Given the description of an element on the screen output the (x, y) to click on. 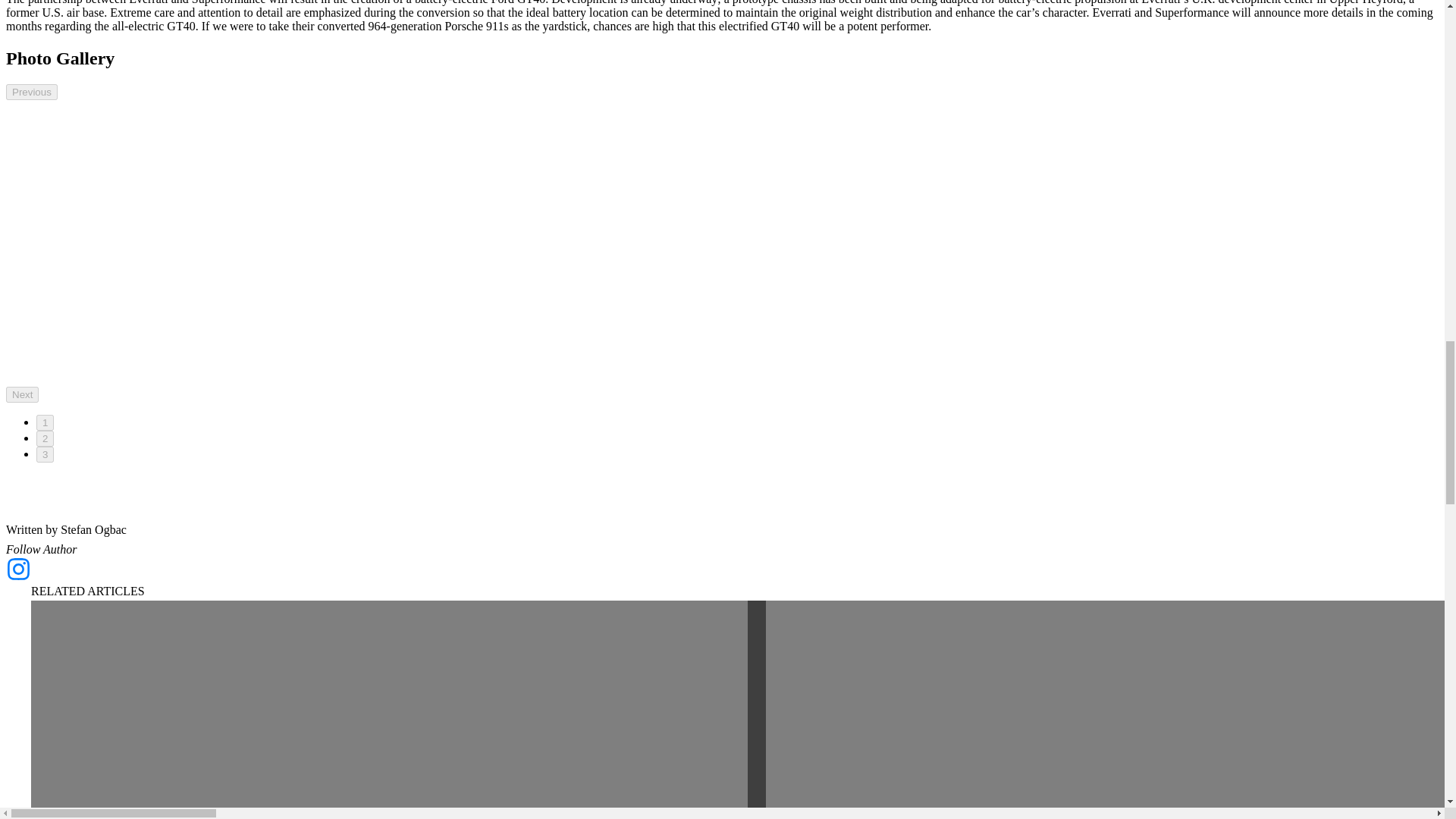
Previous (31, 91)
